Given the description of an element on the screen output the (x, y) to click on. 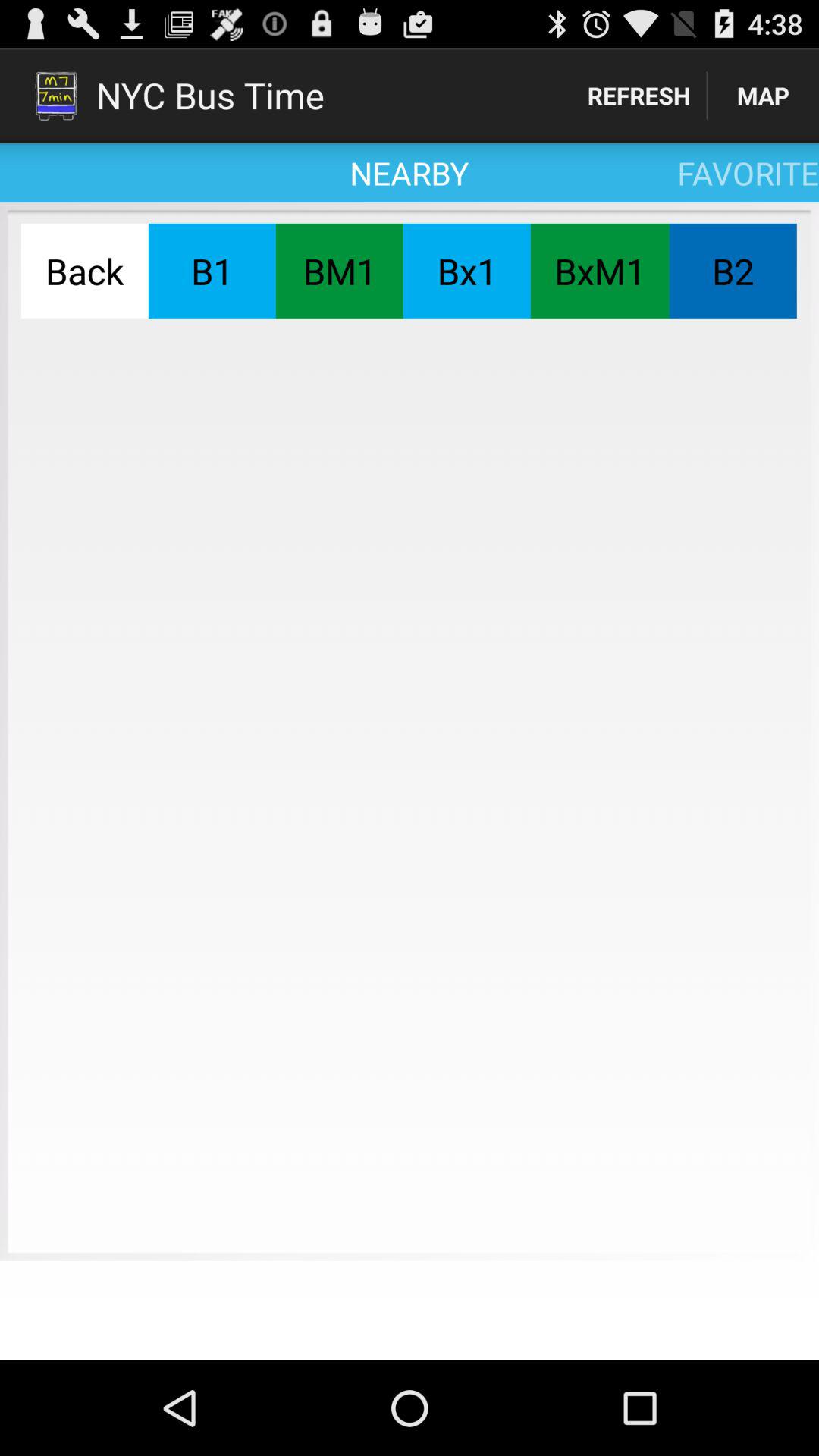
launch the item to the right of the bxm1 button (732, 271)
